Given the description of an element on the screen output the (x, y) to click on. 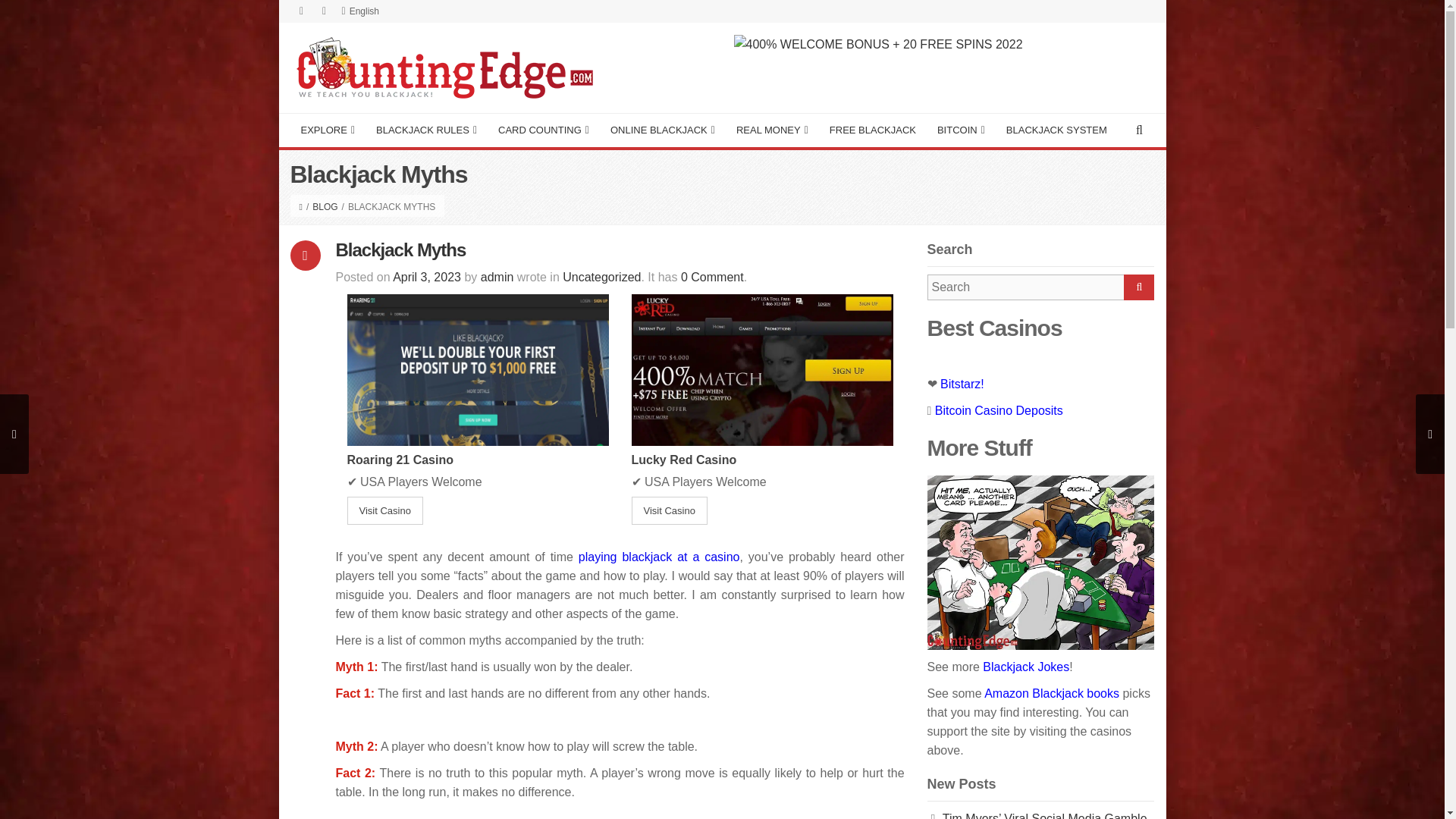
CARD COUNTING (543, 130)
BLACKJACK RULES (426, 130)
Visit las vegas USA (878, 42)
Explore Blackjack (327, 130)
Online Blackjack Guide : CountingEdge.com! (440, 66)
English (359, 11)
EXPLORE (327, 130)
